Given the description of an element on the screen output the (x, y) to click on. 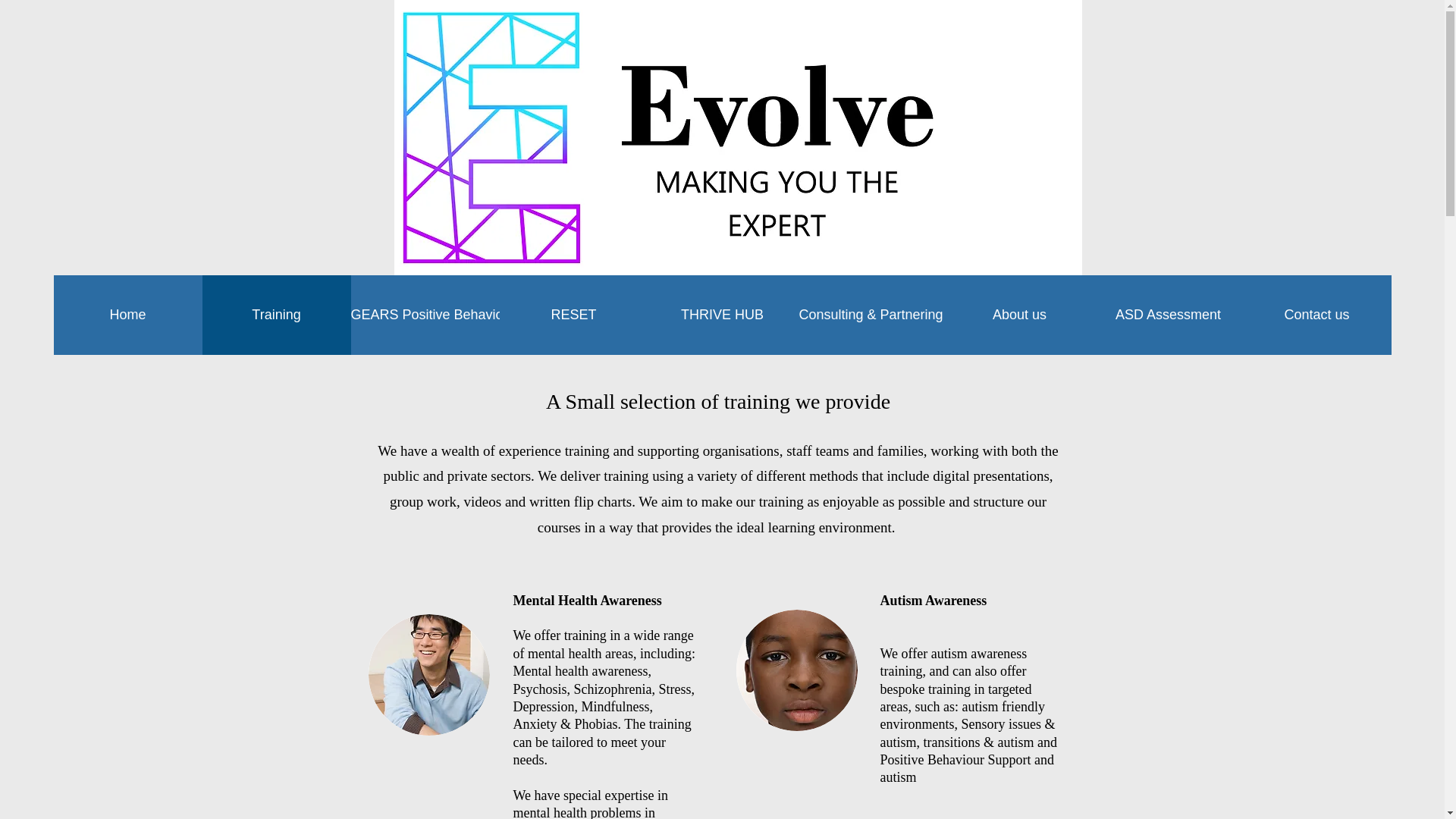
ASD Assessment (1167, 314)
Home (127, 314)
THRIVE HUB (721, 314)
Training (276, 314)
About us (1018, 314)
Contact us (1315, 314)
RESET (573, 314)
GEARS Positive Behaviour Support (424, 314)
Young Asian Guy (428, 674)
